Given the description of an element on the screen output the (x, y) to click on. 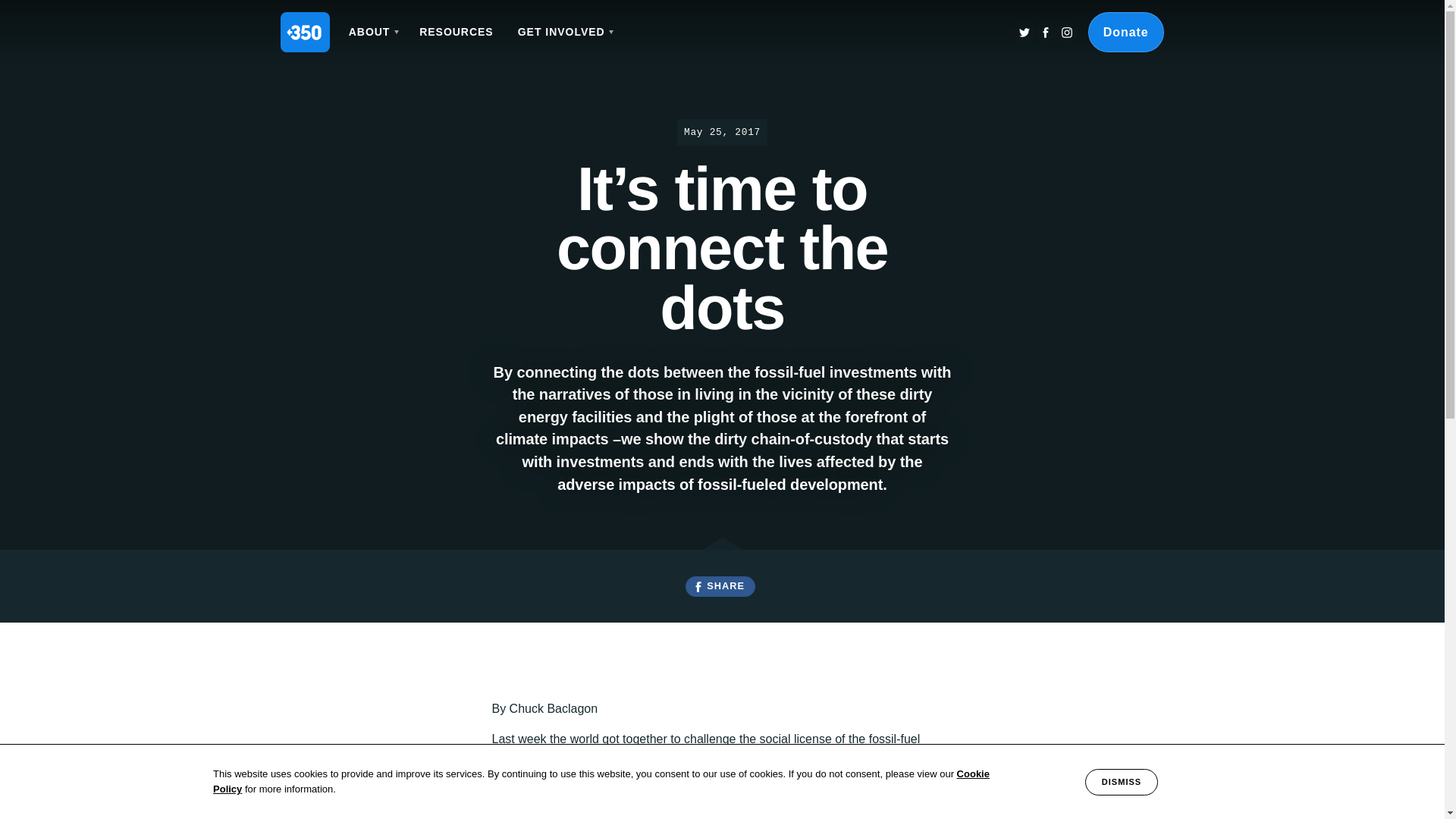
Cookie Policy (601, 781)
SHARE (719, 586)
Insta (1067, 32)
ABOUT (371, 32)
350 (305, 32)
Facebook (1046, 32)
Donate (1125, 32)
RESOURCES (456, 32)
Twitter (1024, 32)
GET INVOLVED (564, 32)
DISMISS (1120, 782)
